Given the description of an element on the screen output the (x, y) to click on. 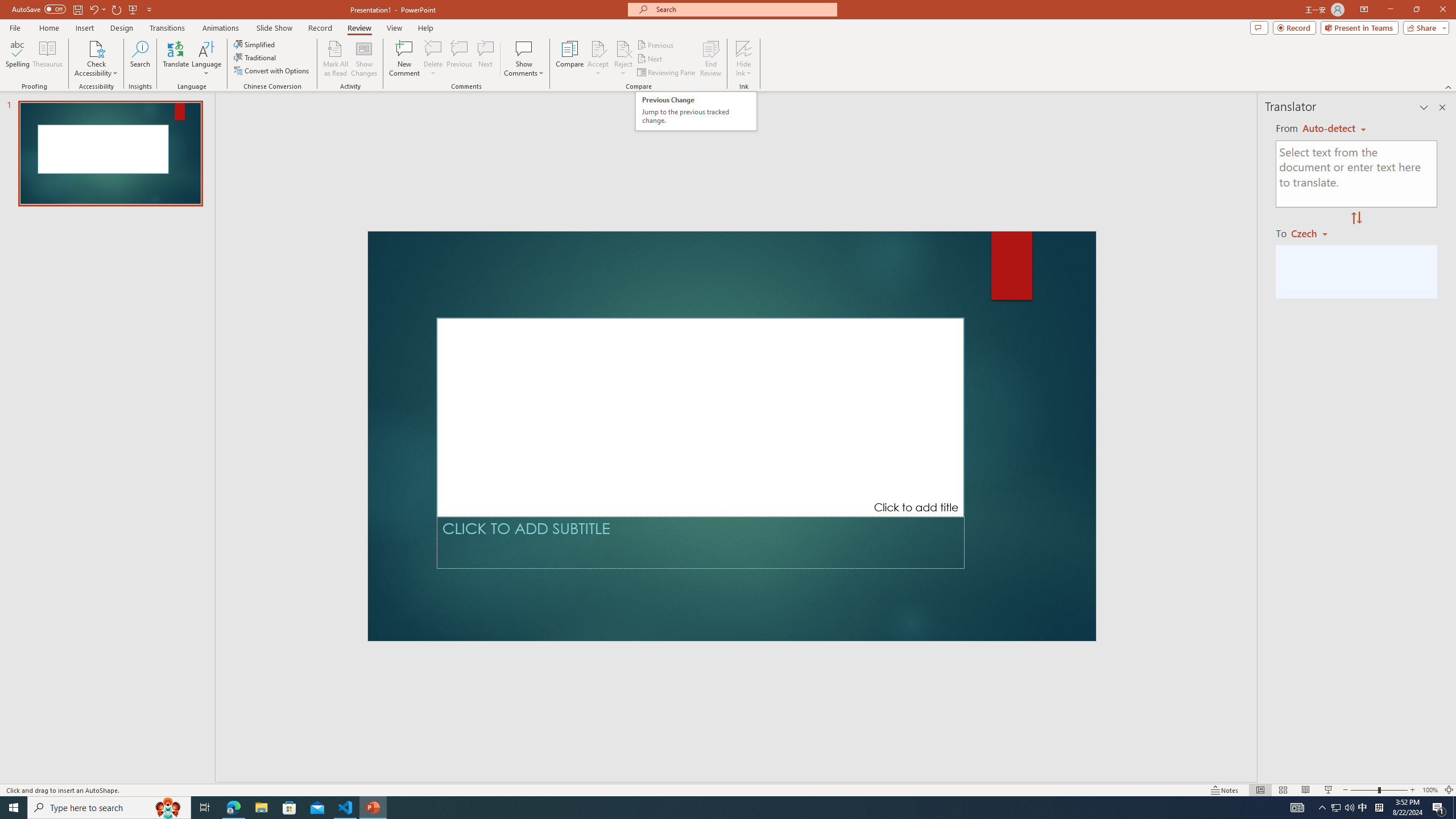
Traditional (255, 56)
Czech (1313, 232)
Accept (598, 58)
End Review (710, 58)
